Given the description of an element on the screen output the (x, y) to click on. 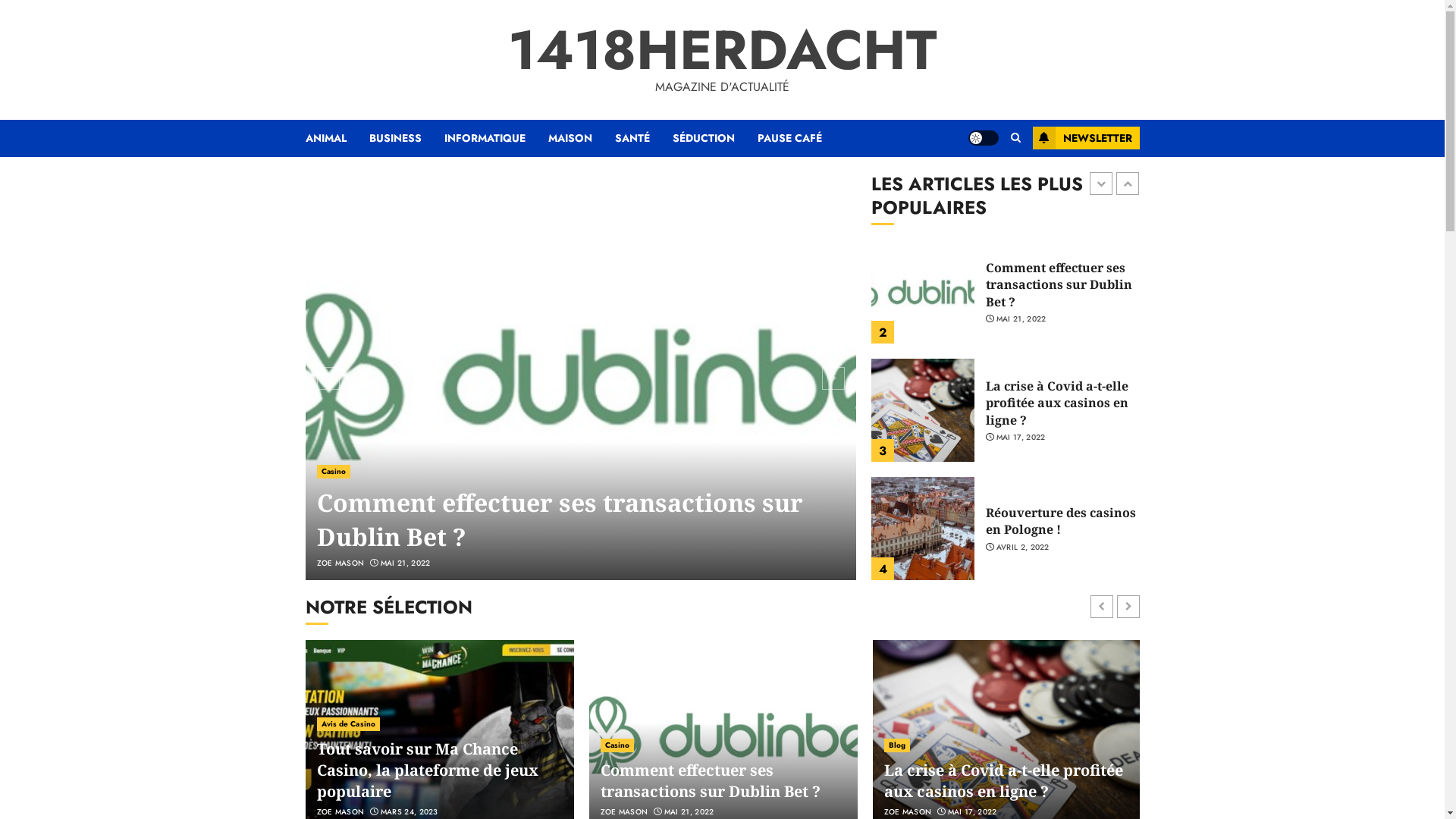
ZOE MASON Element type: text (907, 811)
1418HERDACHT Element type: text (722, 49)
MAI 21, 2022 Element type: text (689, 811)
ZOE MASON Element type: text (624, 811)
MARS 24, 2023 Element type: text (409, 563)
Comment effectuer ses transactions sur Dublin Bet ? Element type: text (1058, 403)
INFORMATIQUE Element type: text (496, 137)
MARS 24, 2023 Element type: text (409, 811)
MAI 17, 2022 Element type: text (1020, 555)
ANIMAL Element type: text (336, 137)
ZOE MASON Element type: text (340, 563)
MAISON Element type: text (580, 137)
Light/Dark Button Element type: text (982, 137)
MAI 17, 2022 Element type: text (972, 811)
NEWSLETTER Element type: text (1085, 137)
MARS 24, 2023 Element type: text (1025, 327)
Comment effectuer ses transactions sur Dublin Bet ? Element type: text (710, 780)
Blog Element type: text (897, 745)
Rechercher Element type: text (985, 183)
Avis de Casino Element type: text (347, 471)
ZOE MASON Element type: text (340, 811)
Search Element type: hover (1014, 137)
MAI 21, 2022 Element type: text (1021, 437)
BUSINESS Element type: text (405, 137)
Casino Element type: text (617, 745)
Avis de Casino Element type: text (347, 724)
